Given the description of an element on the screen output the (x, y) to click on. 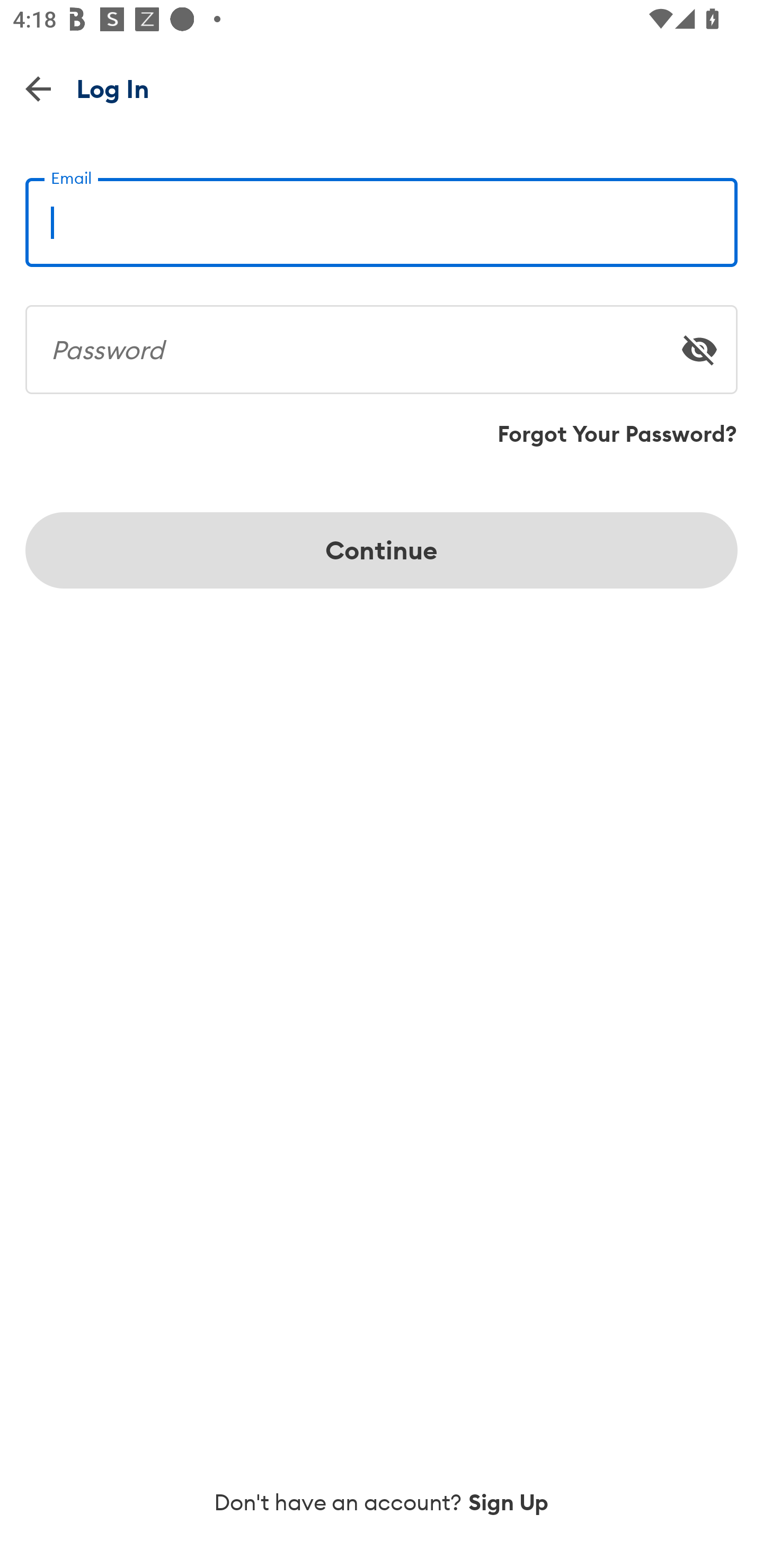
Back (38, 88)
Email (381, 215)
Password (381, 342)
Forgot Your Password? (617, 433)
Continue (381, 550)
Sign Up (508, 1502)
